Given the description of an element on the screen output the (x, y) to click on. 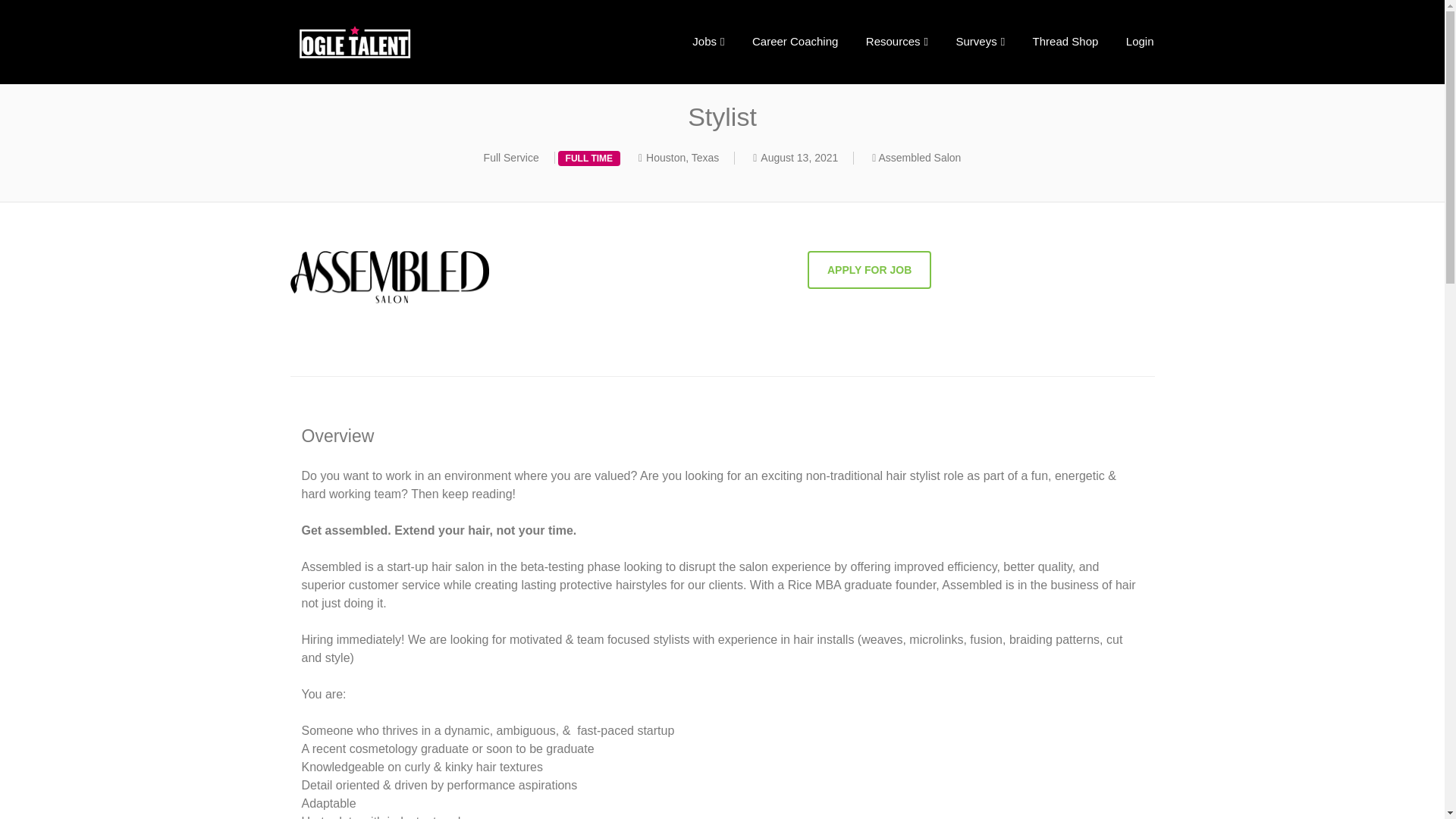
Surveys (979, 41)
Login (1139, 41)
Jobs (707, 41)
Career Coaching (794, 41)
Apply for job (869, 269)
OGLE TALENT (398, 42)
Assembled Salon (918, 157)
Ogle Talent (398, 42)
Resources (896, 41)
Houston, Texas (682, 157)
Thread Shop (1065, 41)
